Given the description of an element on the screen output the (x, y) to click on. 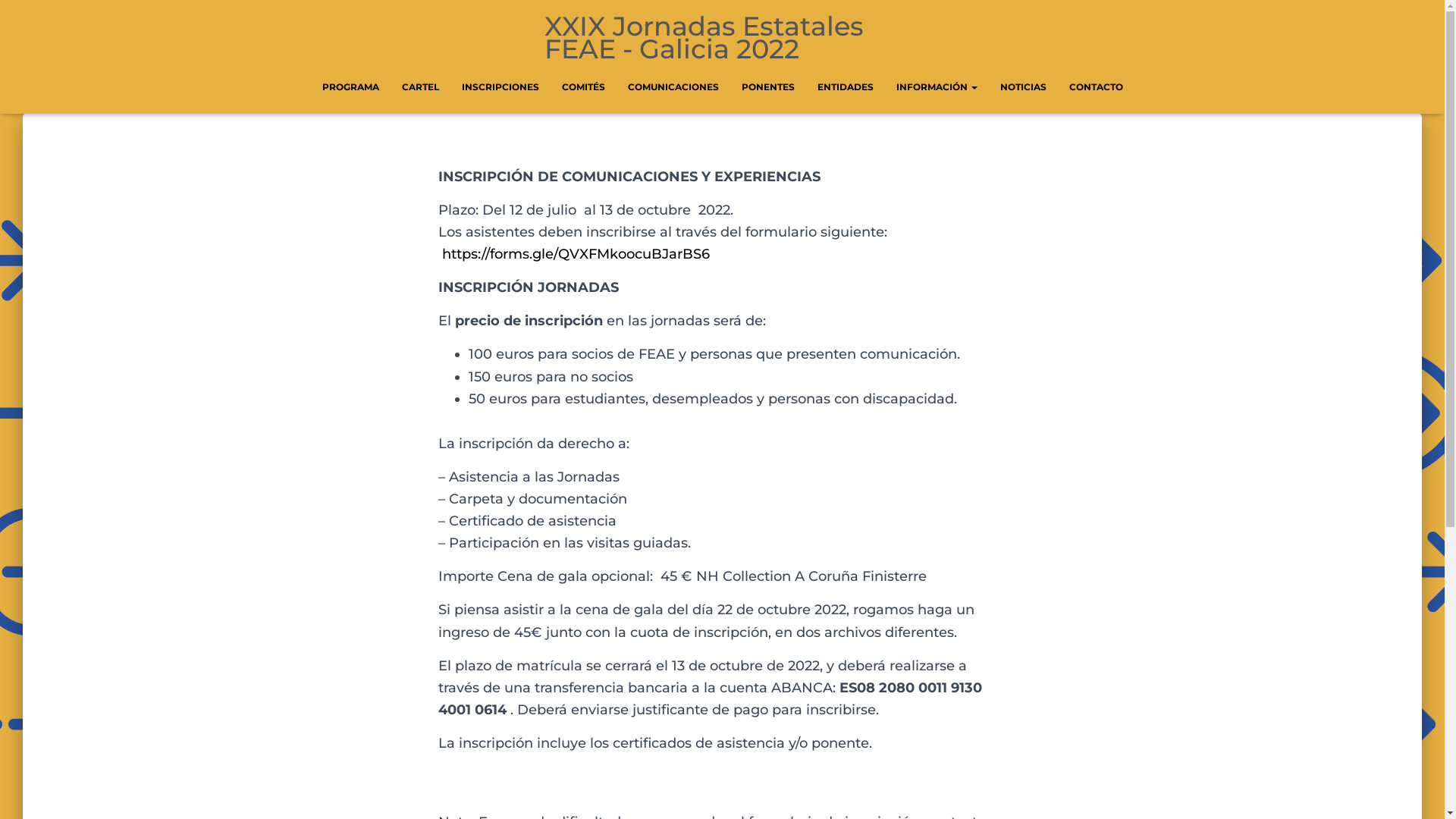
PONENTES Element type: text (767, 87)
XXIX Jornadas Estatales FEAE - Galicia 2022 Element type: text (721, 37)
ENTIDADES Element type: text (844, 87)
COMUNICACIONES Element type: text (672, 87)
CONTACTO Element type: text (1095, 87)
NOTICIAS Element type: text (1022, 87)
PROGRAMA Element type: text (350, 87)
INSCRIPCIONES Element type: text (500, 87)
CARTEL Element type: text (419, 87)
https://forms.gle/QVXFMkoocuBJarBS6 Element type: text (575, 253)
